Given the description of an element on the screen output the (x, y) to click on. 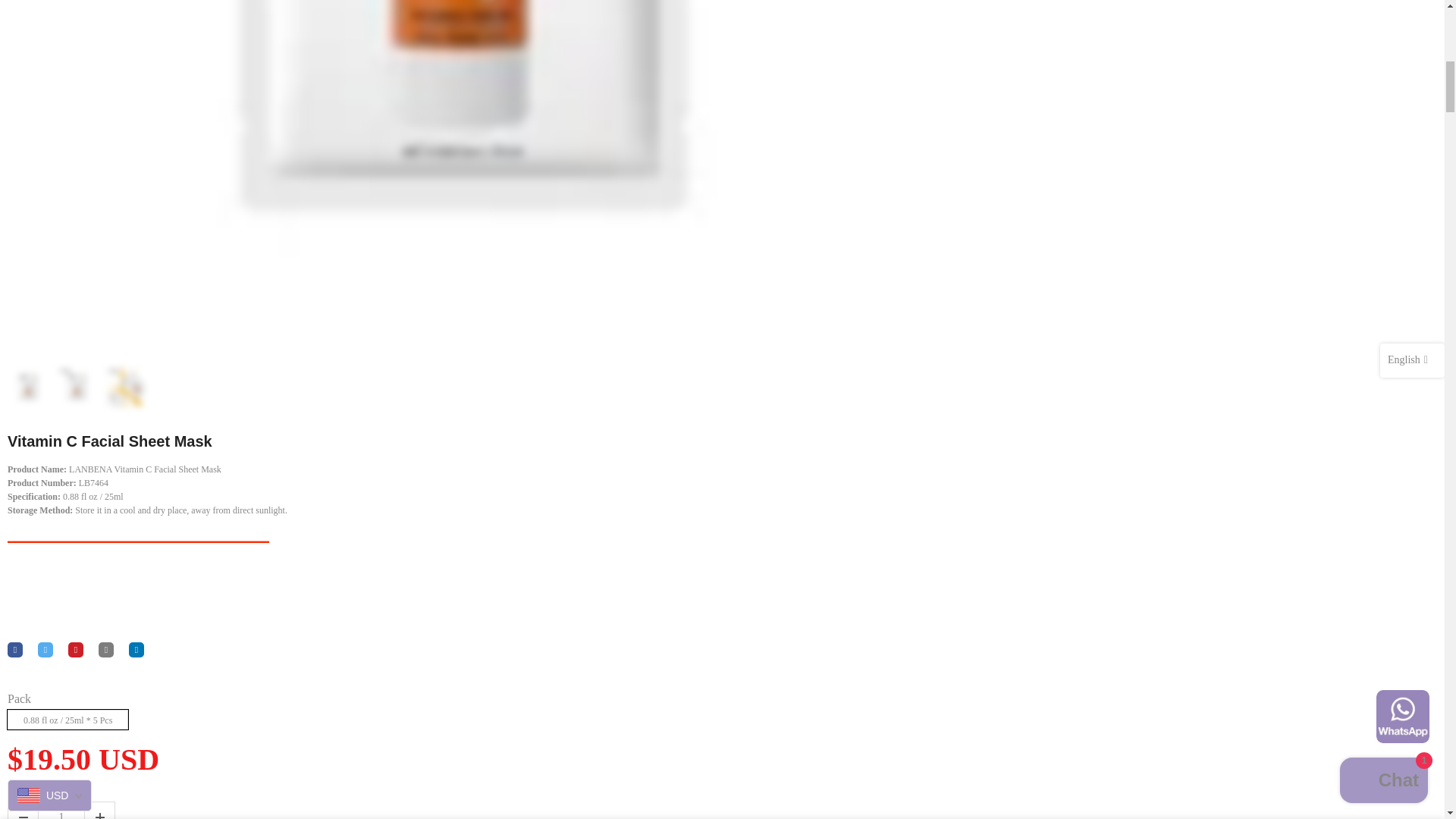
email (106, 649)
linkedin (136, 649)
pinterest (75, 649)
twitter (44, 649)
facebook (15, 649)
1 (1001, 35)
1 (61, 810)
